Given the description of an element on the screen output the (x, y) to click on. 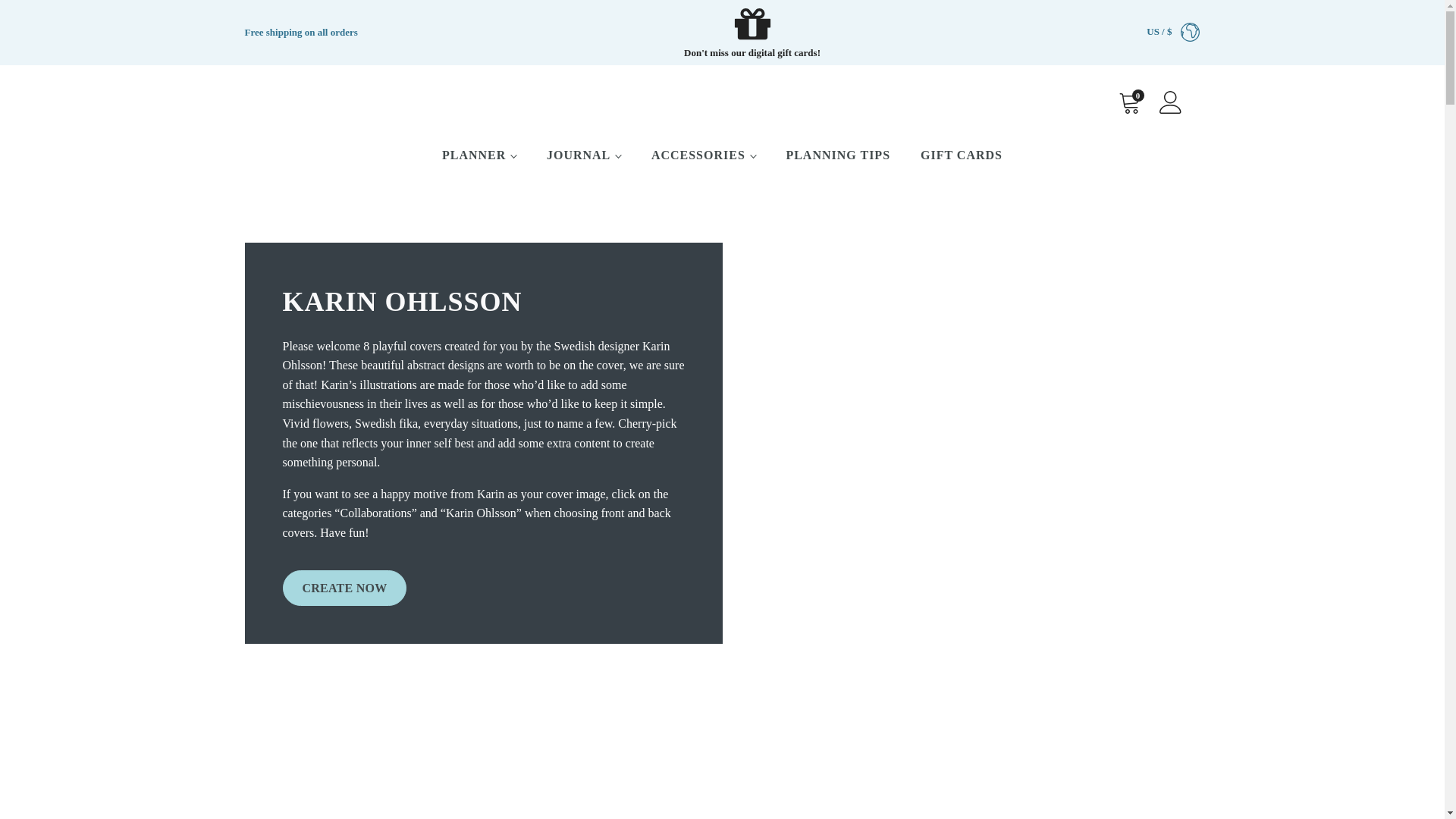
ACCESSORIES (703, 155)
PLANNER (478, 155)
CREATE NOW (344, 588)
PLANNING TIPS (837, 155)
Don't miss our digital gift cards! (752, 32)
JOURNAL (583, 155)
0 (1129, 101)
GIFT CARDS (961, 155)
